Given the description of an element on the screen output the (x, y) to click on. 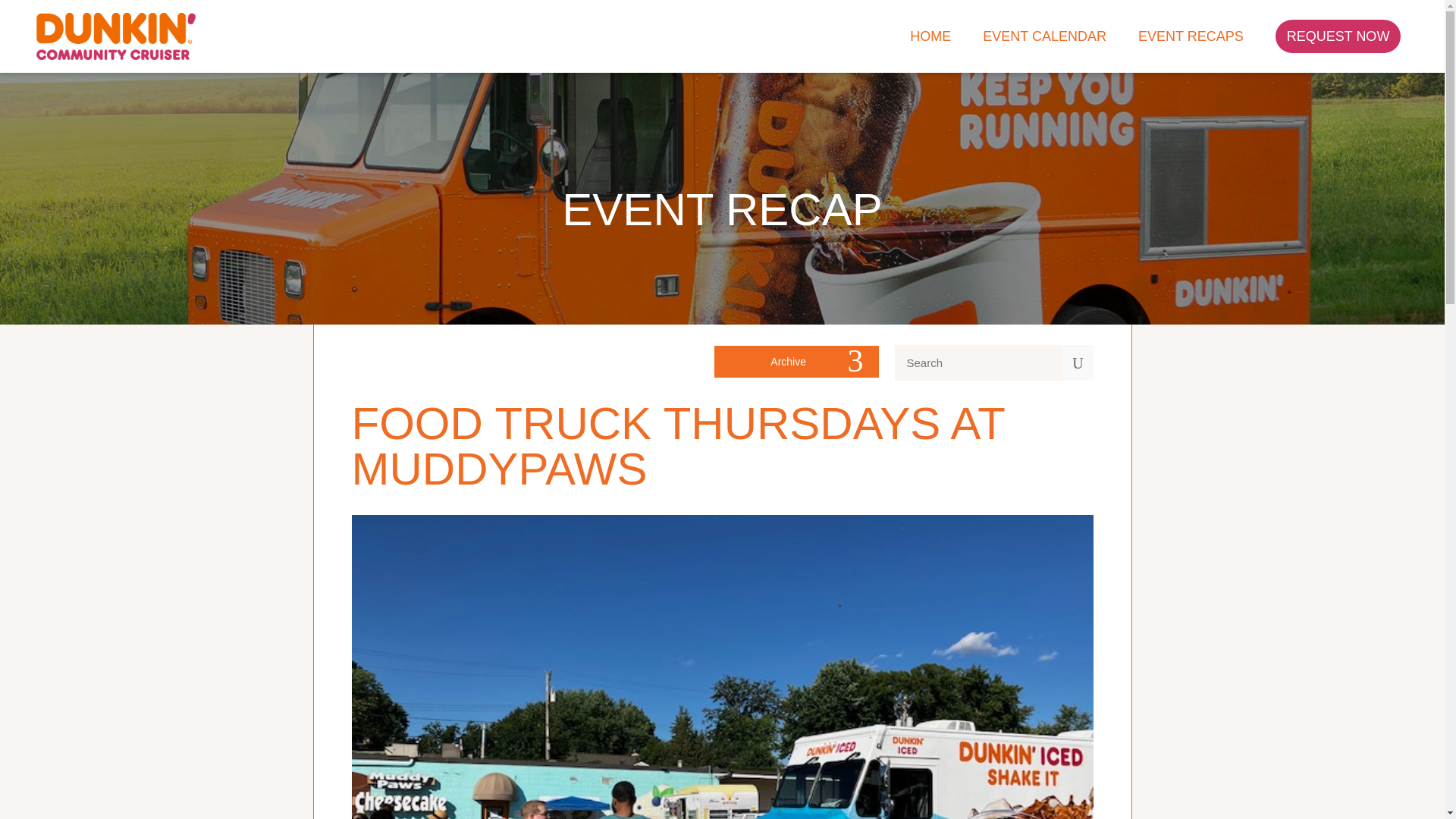
EVENT RECAPS (1190, 36)
REQUEST NOW (1337, 36)
EVENT CALENDAR (1044, 36)
